Given the description of an element on the screen output the (x, y) to click on. 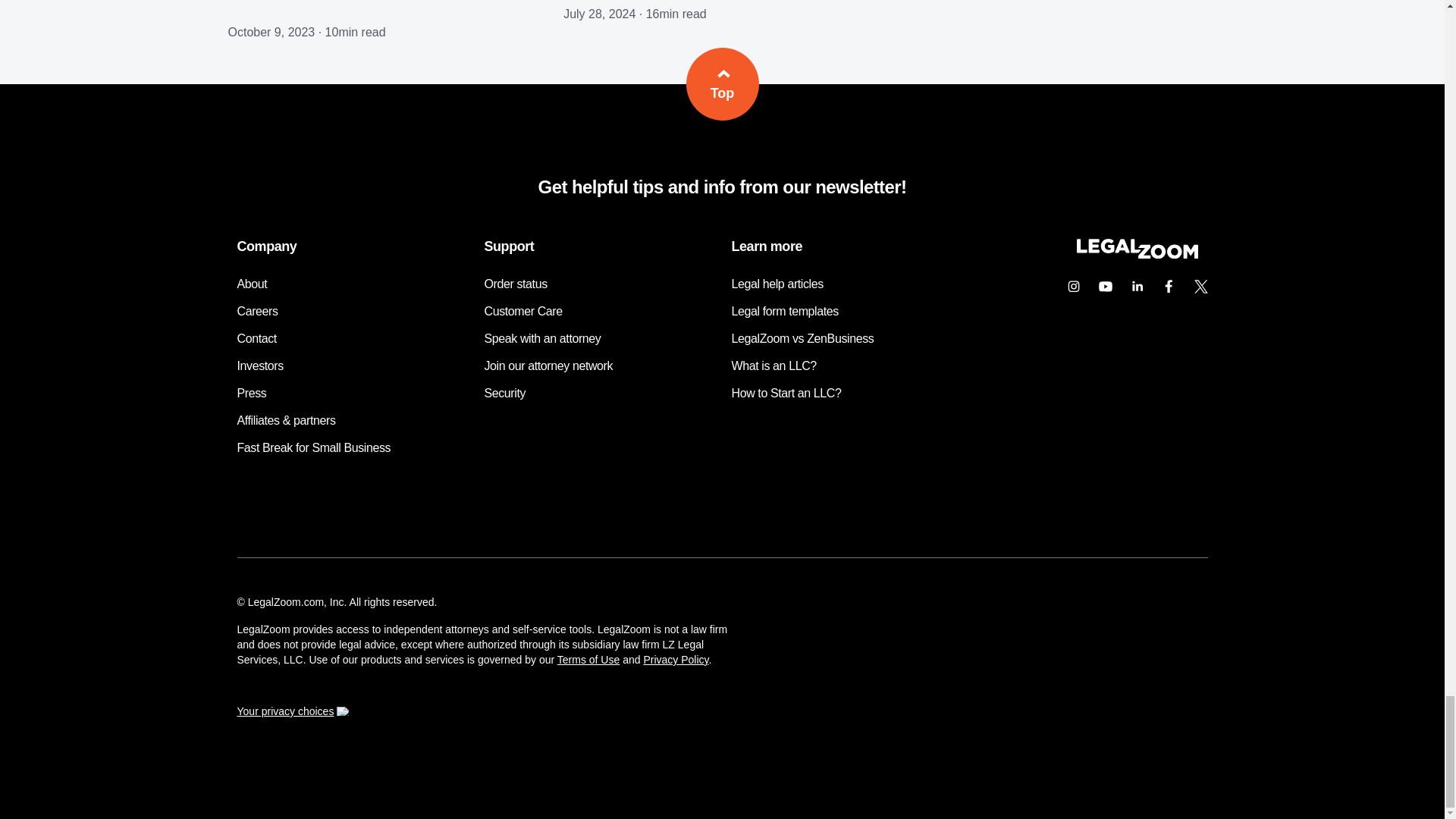
Facebook (1169, 286)
LinkedIn (1137, 286)
YouTube (1105, 286)
Instagram (1073, 286)
Back to top (721, 83)
LegalZoom (1136, 255)
Twitter (1200, 286)
